Given the description of an element on the screen output the (x, y) to click on. 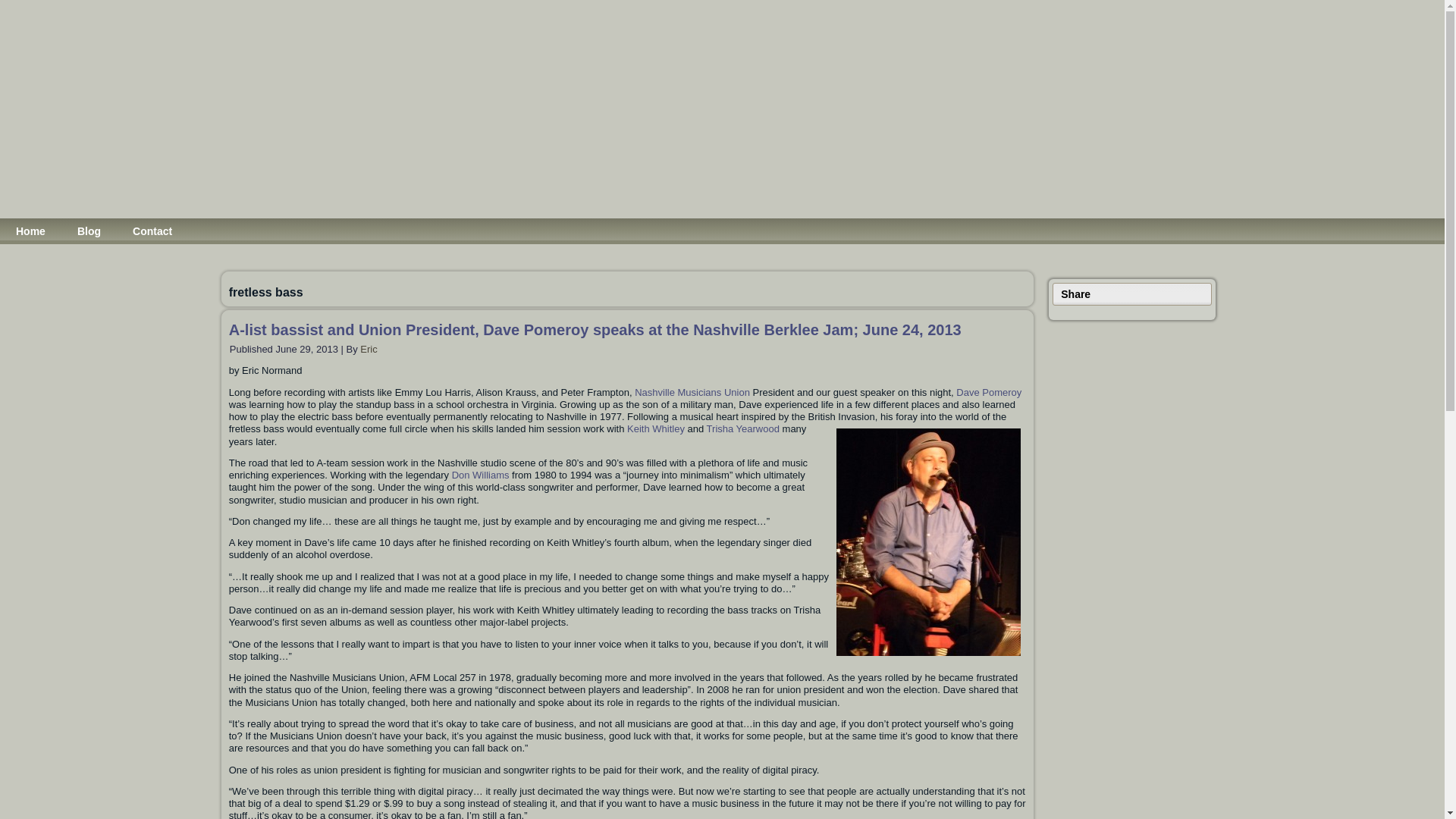
Blog (89, 231)
Keith Whitley (655, 428)
Trisha Yearwood (742, 428)
Dave Pomeroy (989, 392)
Contact (152, 231)
9:36 am (306, 348)
Home (31, 231)
Blog (89, 231)
View all posts by Eric (368, 348)
